Given the description of an element on the screen output the (x, y) to click on. 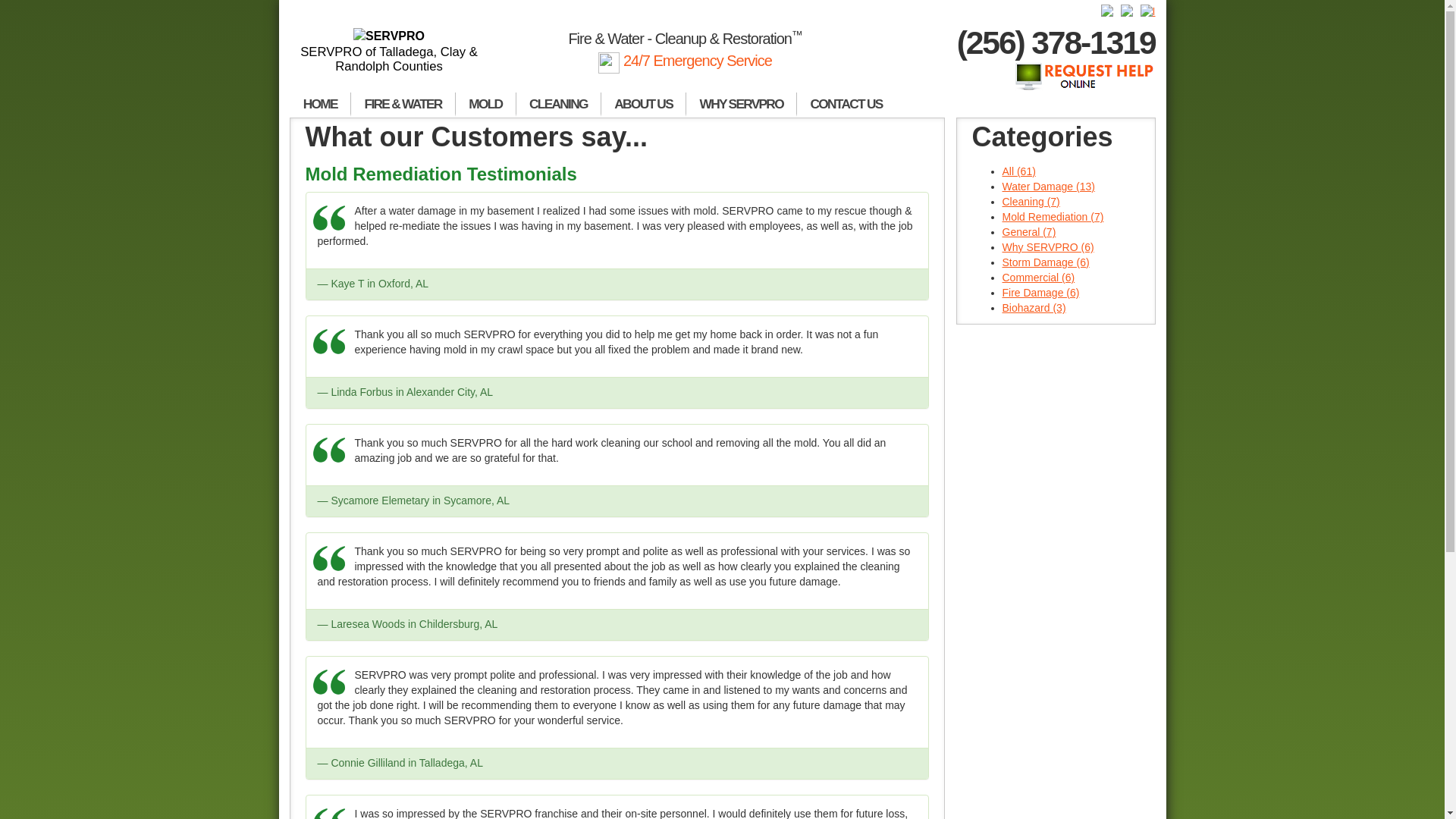
MOLD (485, 104)
ABOUT US (643, 104)
CLEANING (558, 104)
HOME (319, 104)
